Given the description of an element on the screen output the (x, y) to click on. 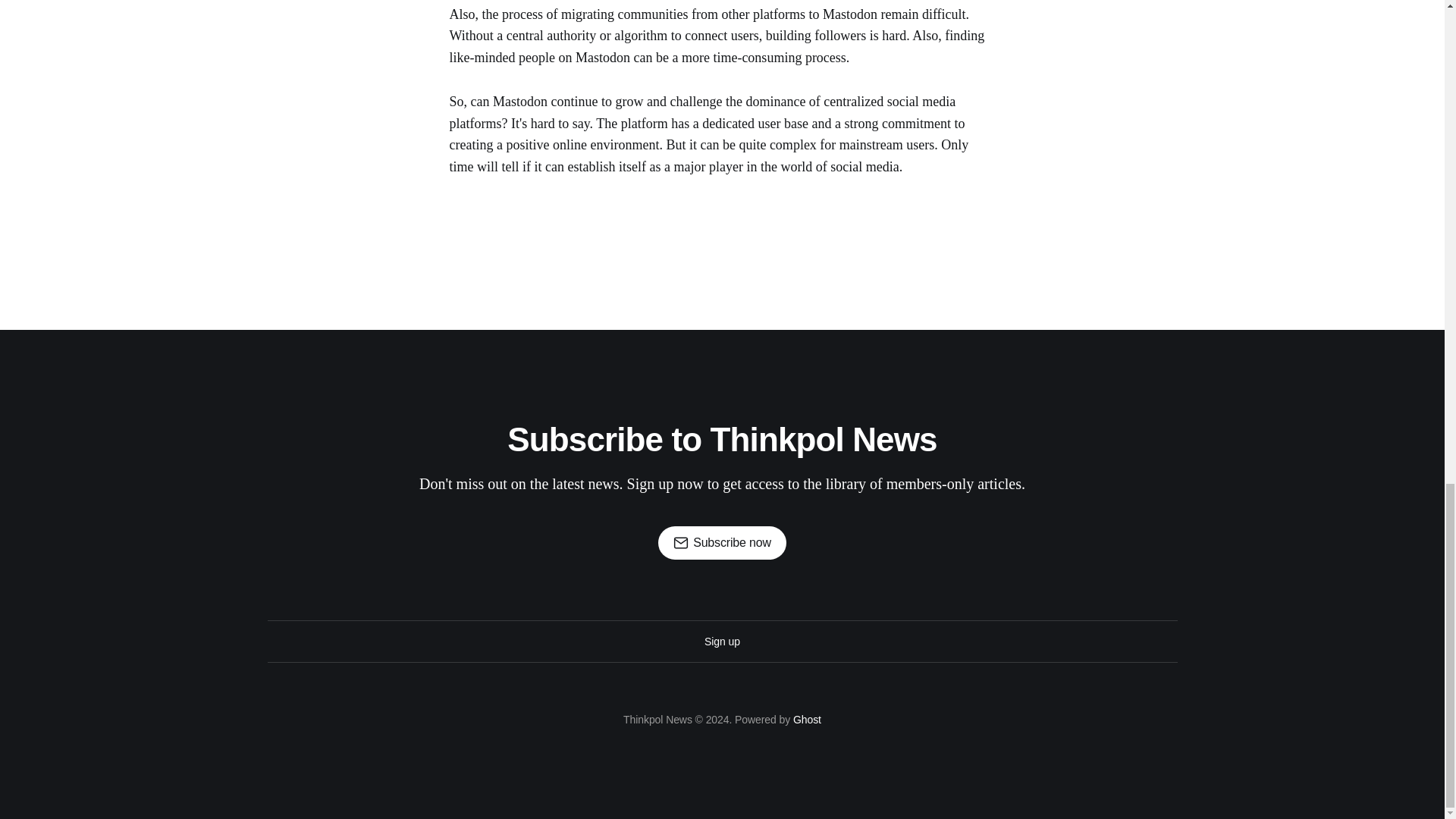
Subscribe now (722, 542)
Sign up (721, 641)
Ghost (807, 719)
